Given the description of an element on the screen output the (x, y) to click on. 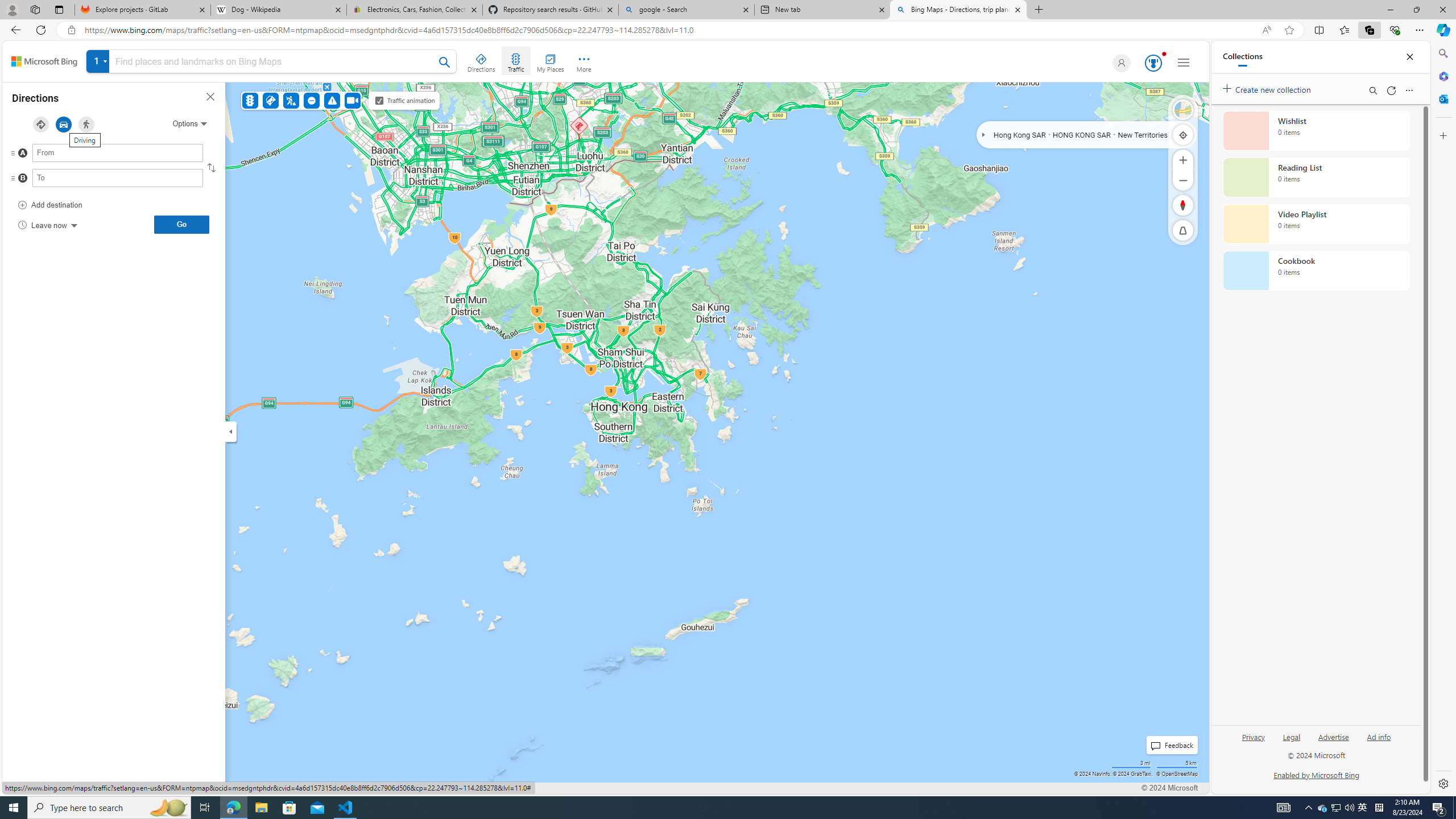
Recommended (41, 124)
From (117, 153)
Reset to Default Pitch (1182, 230)
Electronics, Cars, Fashion, Collectibles & More | eBay (414, 9)
Directions (481, 60)
To (117, 177)
More (583, 60)
Road (1182, 109)
